Given the description of an element on the screen output the (x, y) to click on. 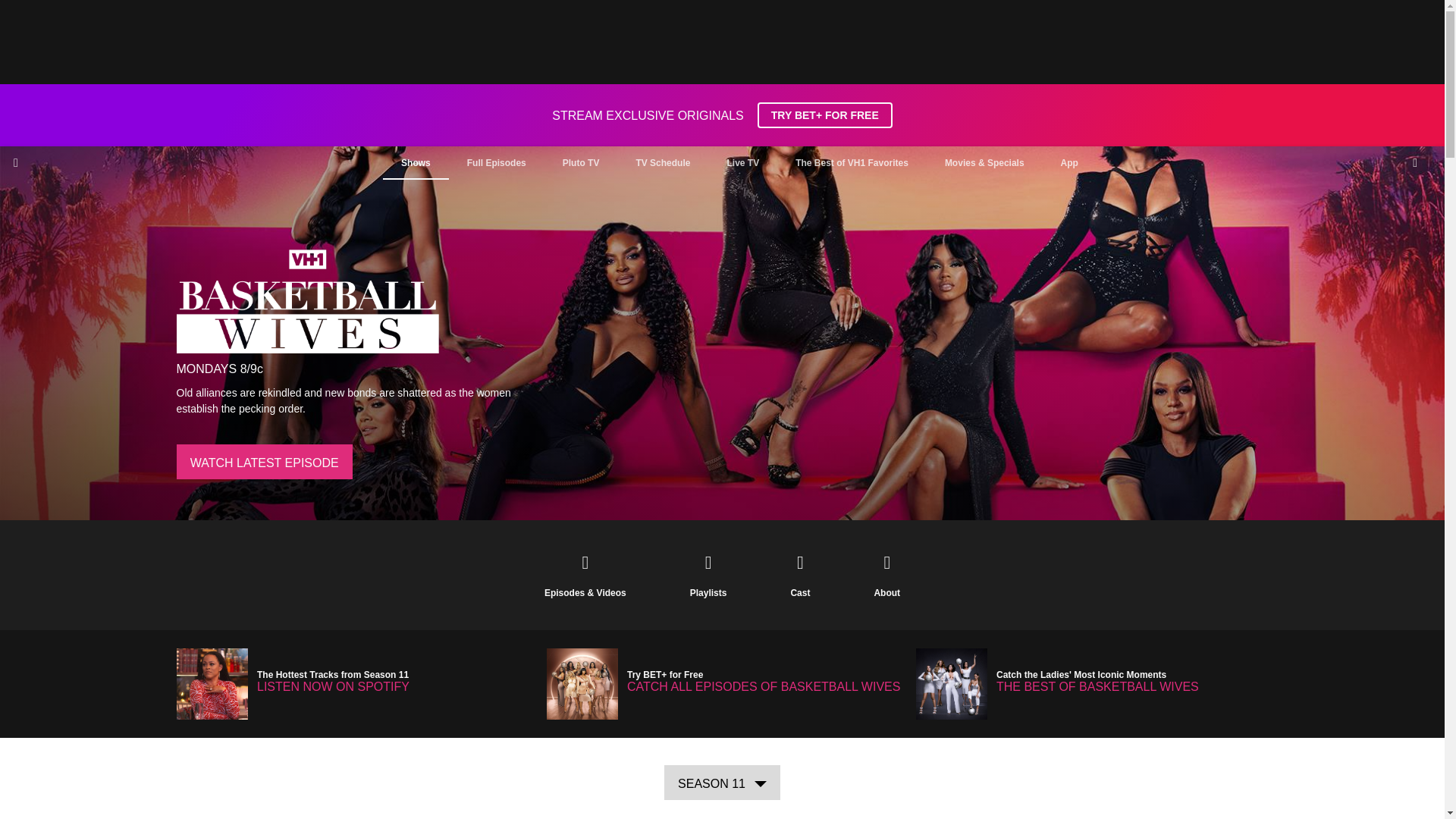
Shows (415, 162)
